Given the description of an element on the screen output the (x, y) to click on. 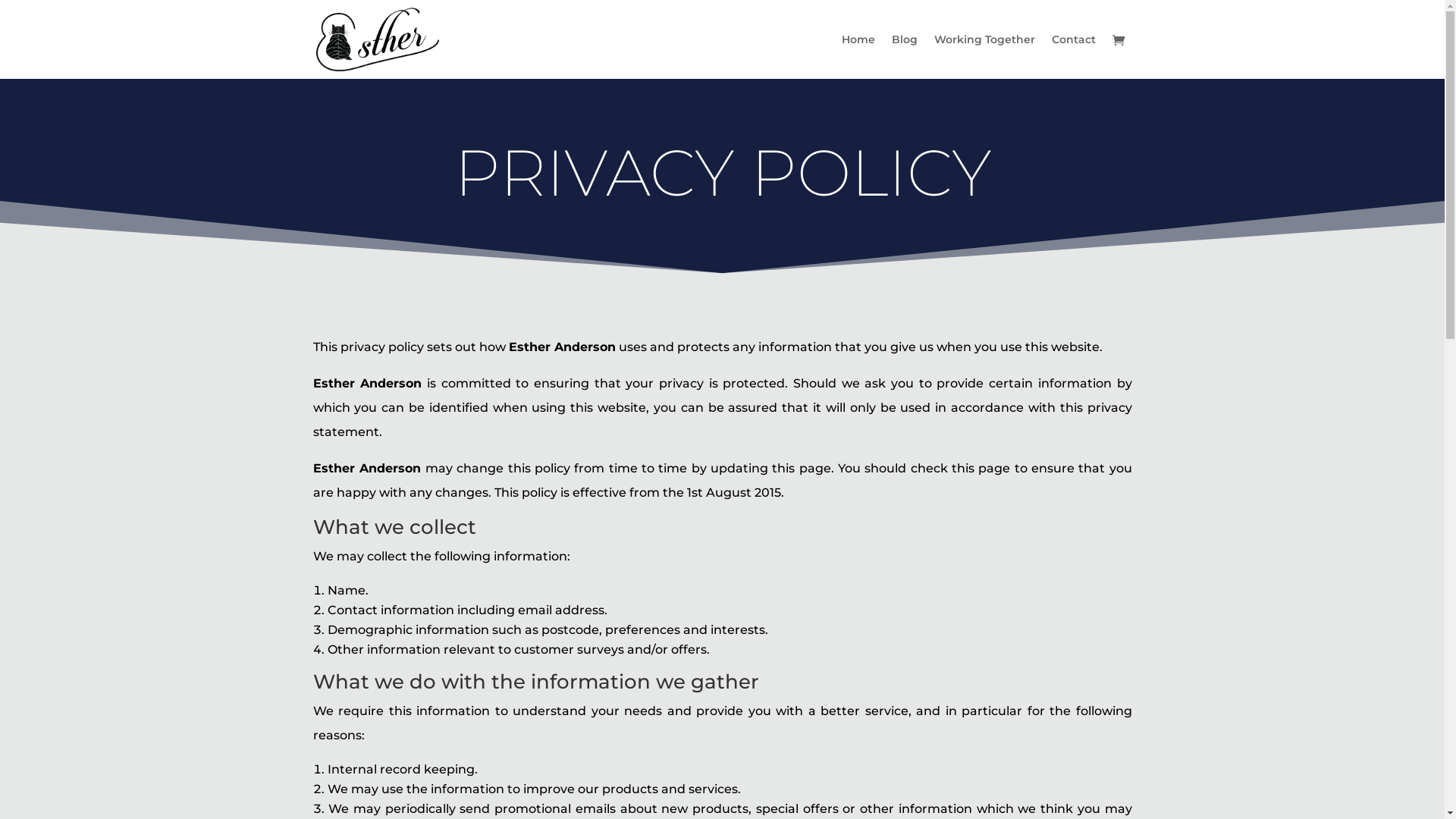
Blog Element type: text (904, 56)
Contact Element type: text (1073, 56)
Home Element type: text (858, 56)
Working Together Element type: text (984, 56)
